Given the description of an element on the screen output the (x, y) to click on. 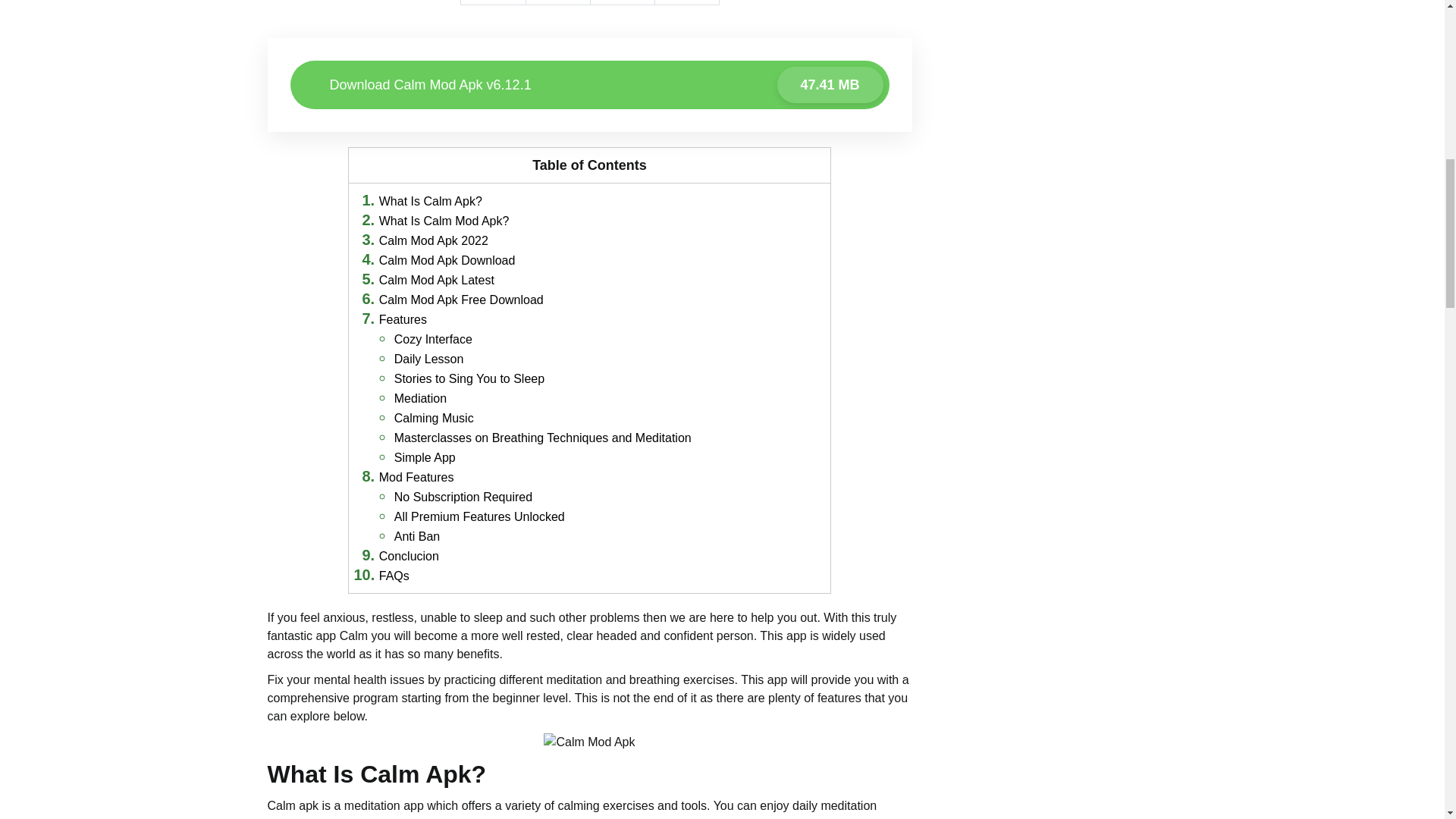
Mod Features (416, 477)
Anti Ban (416, 535)
Conclucion (408, 555)
What Is Calm Mod Apk? (443, 220)
Cozy Interface (432, 338)
Stories to Sing You to Sleep (469, 378)
Share on Whatsapp (685, 2)
Calm Mod Apk Free Download (460, 299)
Tweet this (556, 2)
Calm Mod Apk 2022 (432, 240)
Calming Music (434, 418)
What Is Calm Apk? (429, 201)
Masterclasses on Breathing Techniques and Meditation (542, 437)
Simple App (424, 457)
Features (402, 318)
